Given the description of an element on the screen output the (x, y) to click on. 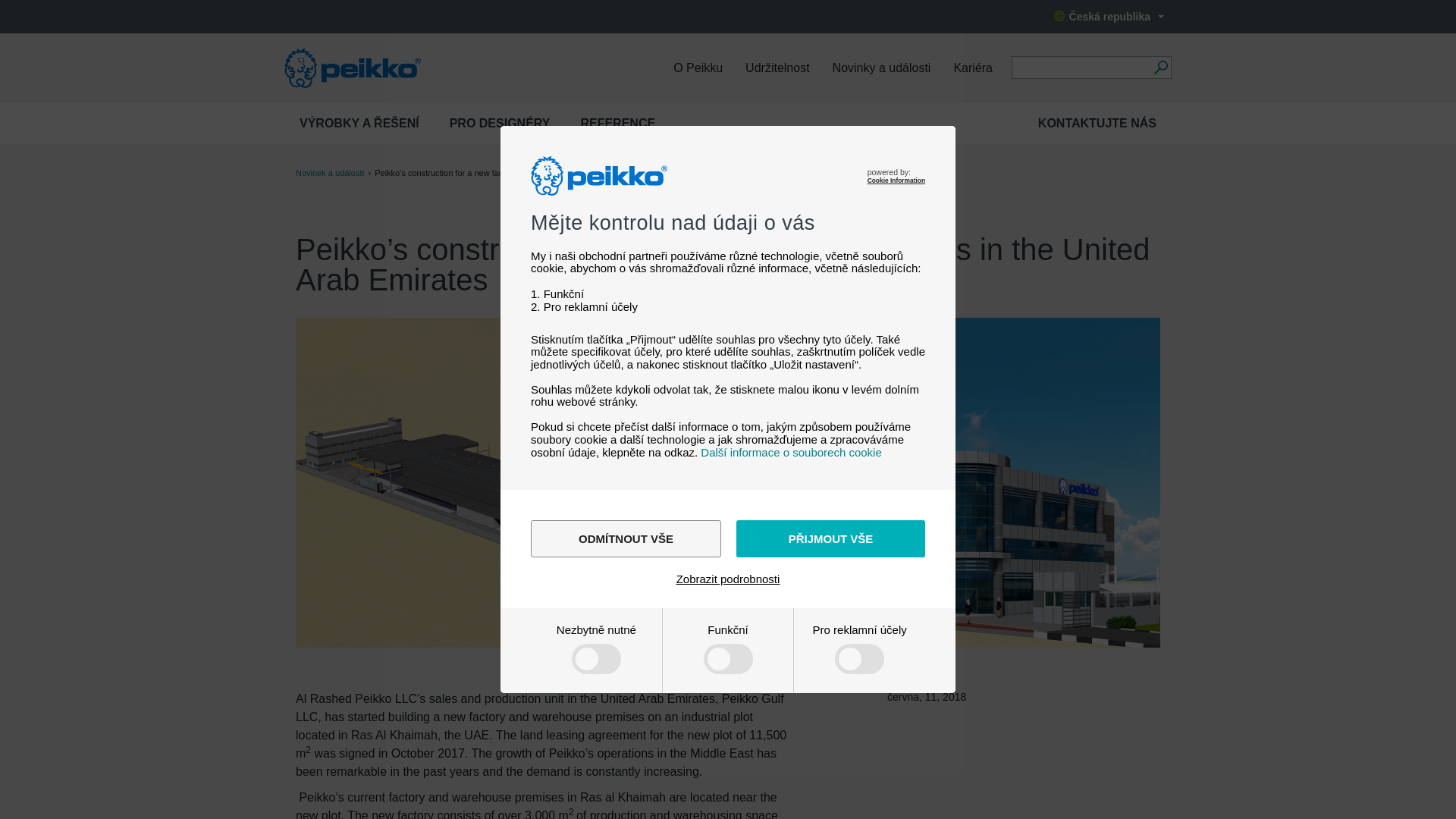
Cookie Information (895, 180)
Zobrazit podrobnosti (728, 578)
